Given the description of an element on the screen output the (x, y) to click on. 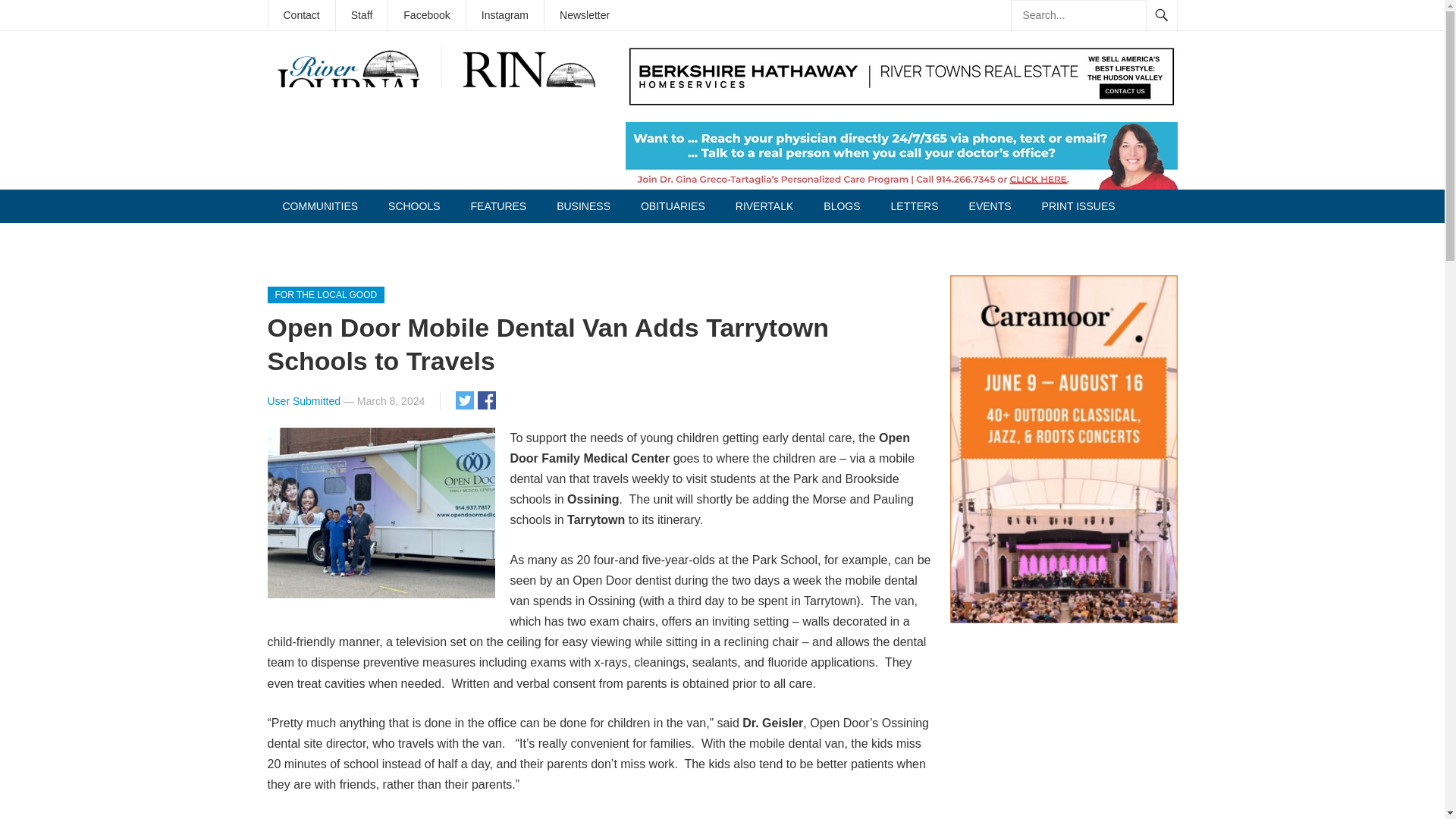
SCHOOLS (413, 205)
Facebook (426, 15)
Instagram (504, 15)
Staff (362, 15)
FEATURES (498, 205)
Contact (300, 15)
COMMUNITIES (319, 205)
Posts by User Submitted (302, 400)
View all posts in For the Local Good (325, 294)
BUSINESS (583, 205)
Newsletter (584, 15)
